Given the description of an element on the screen output the (x, y) to click on. 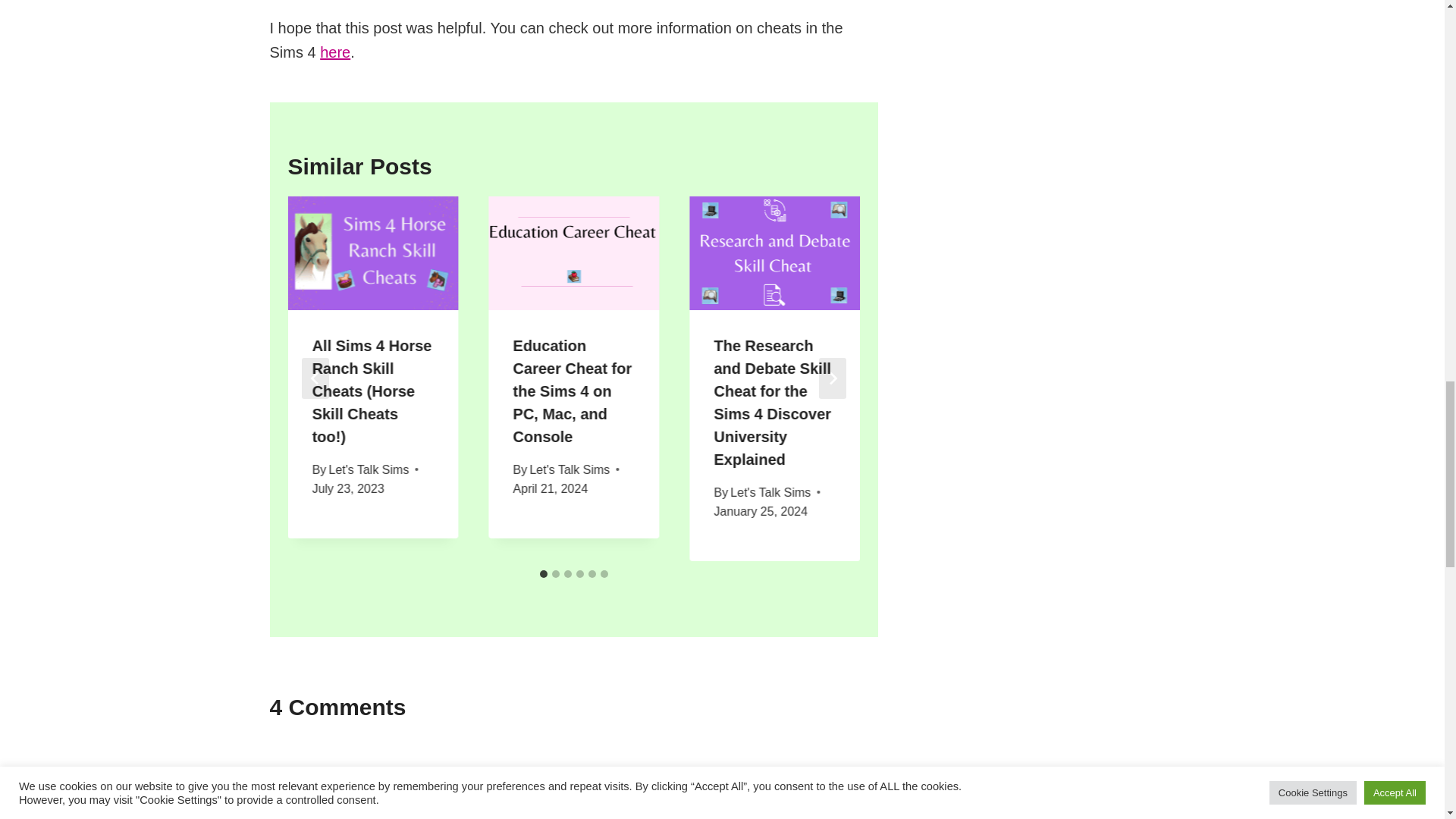
here (335, 52)
